Given the description of an element on the screen output the (x, y) to click on. 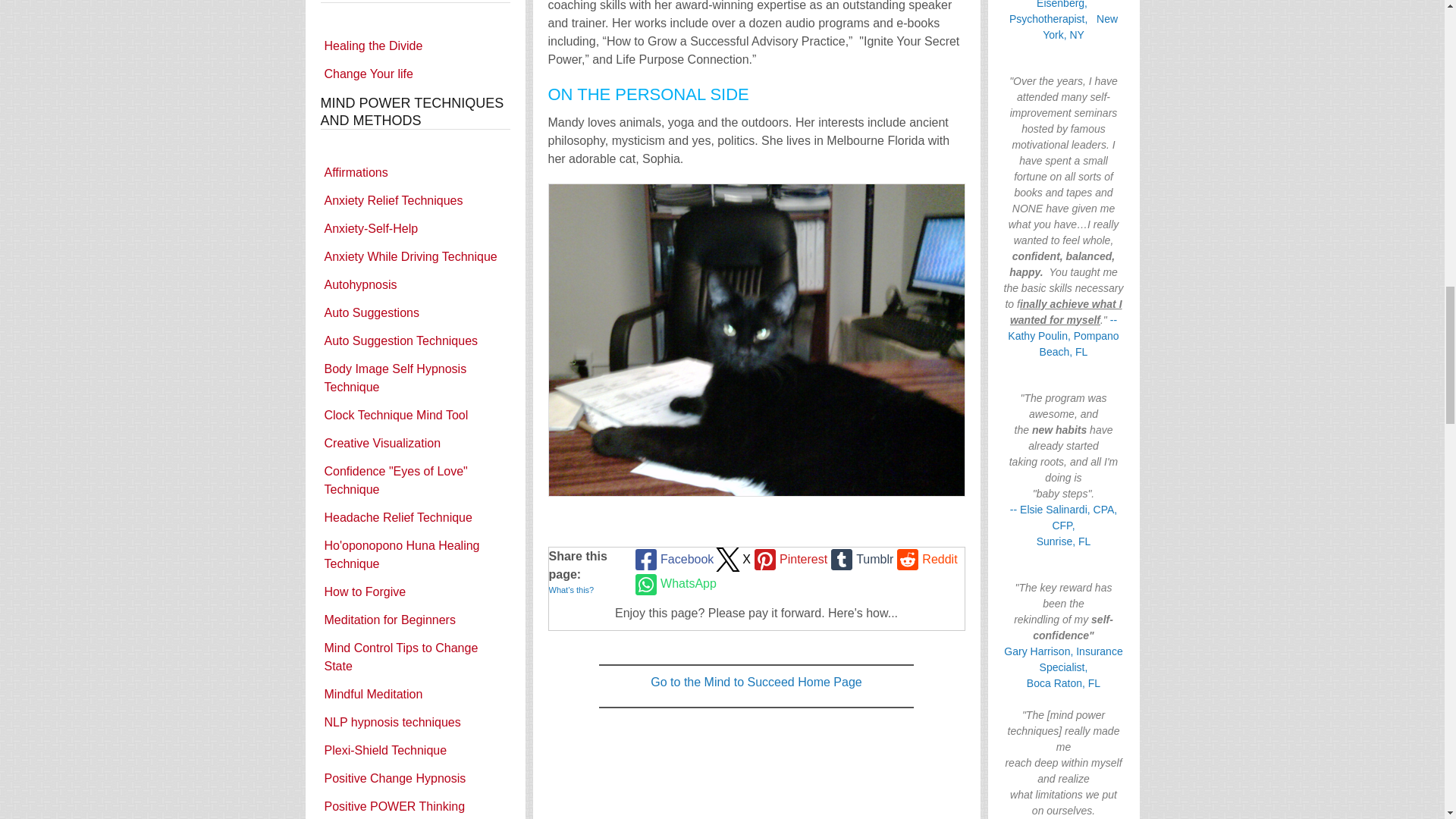
Facebook (672, 559)
Go to the Mind to Succeed Home Page (755, 681)
Pinterest (789, 559)
WhatsApp (673, 584)
Tumblr (860, 559)
X (732, 559)
Reddit (924, 559)
